Given the description of an element on the screen output the (x, y) to click on. 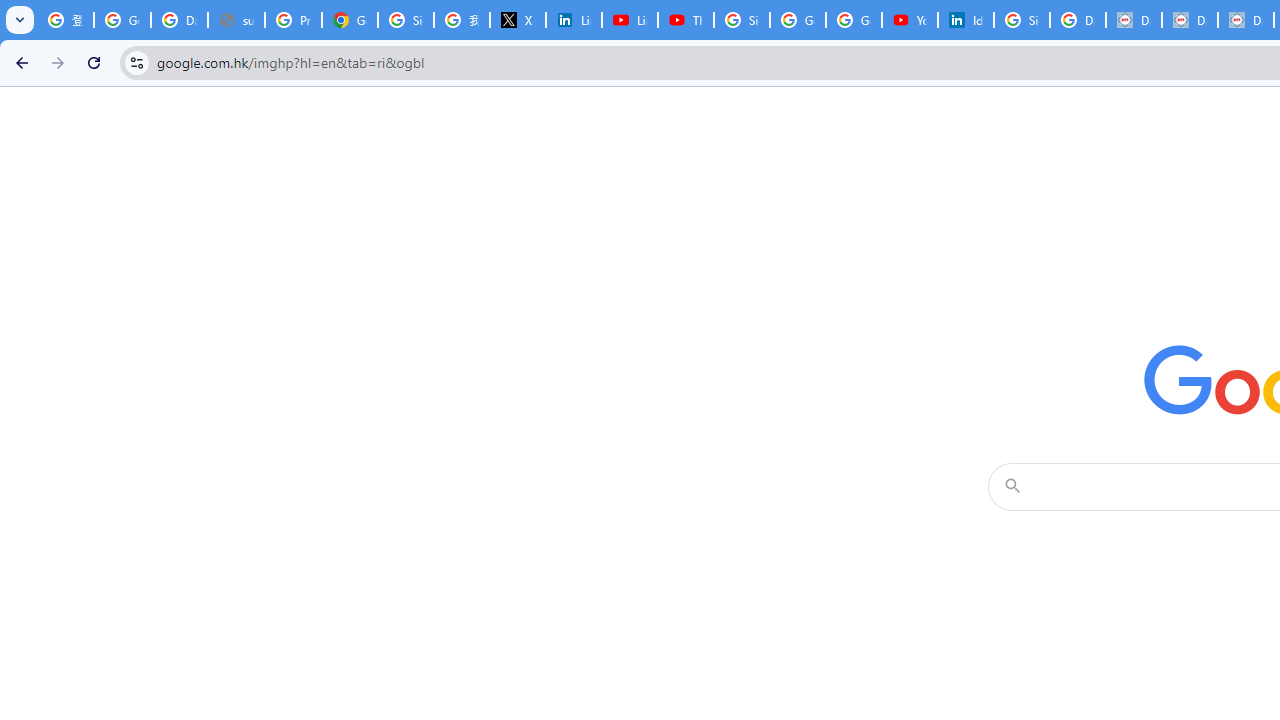
Sign in - Google Accounts (742, 20)
support.google.com - Network error (235, 20)
LinkedIn - YouTube (629, 20)
LinkedIn Privacy Policy (573, 20)
Privacy Help Center - Policies Help (293, 20)
